Given the description of an element on the screen output the (x, y) to click on. 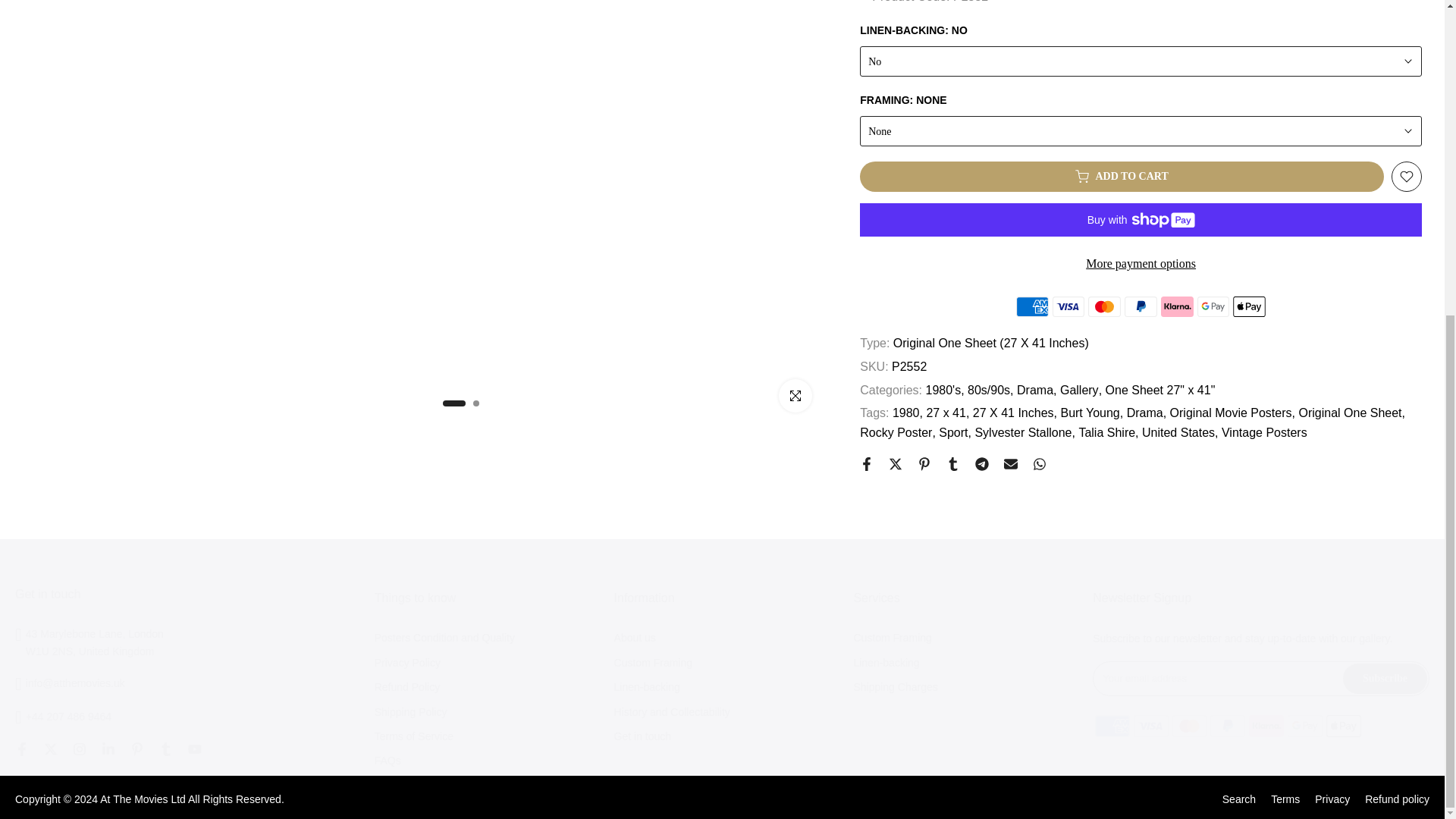
1 (829, 348)
No (1141, 60)
Share on Telegram (981, 463)
Share on Twitter (895, 463)
Share on WhatsApp (1039, 463)
Share on Email (1010, 463)
None (1141, 131)
Share on Facebook (866, 463)
Share on Tumblr (952, 463)
Share on Pinterest (924, 463)
